Given the description of an element on the screen output the (x, y) to click on. 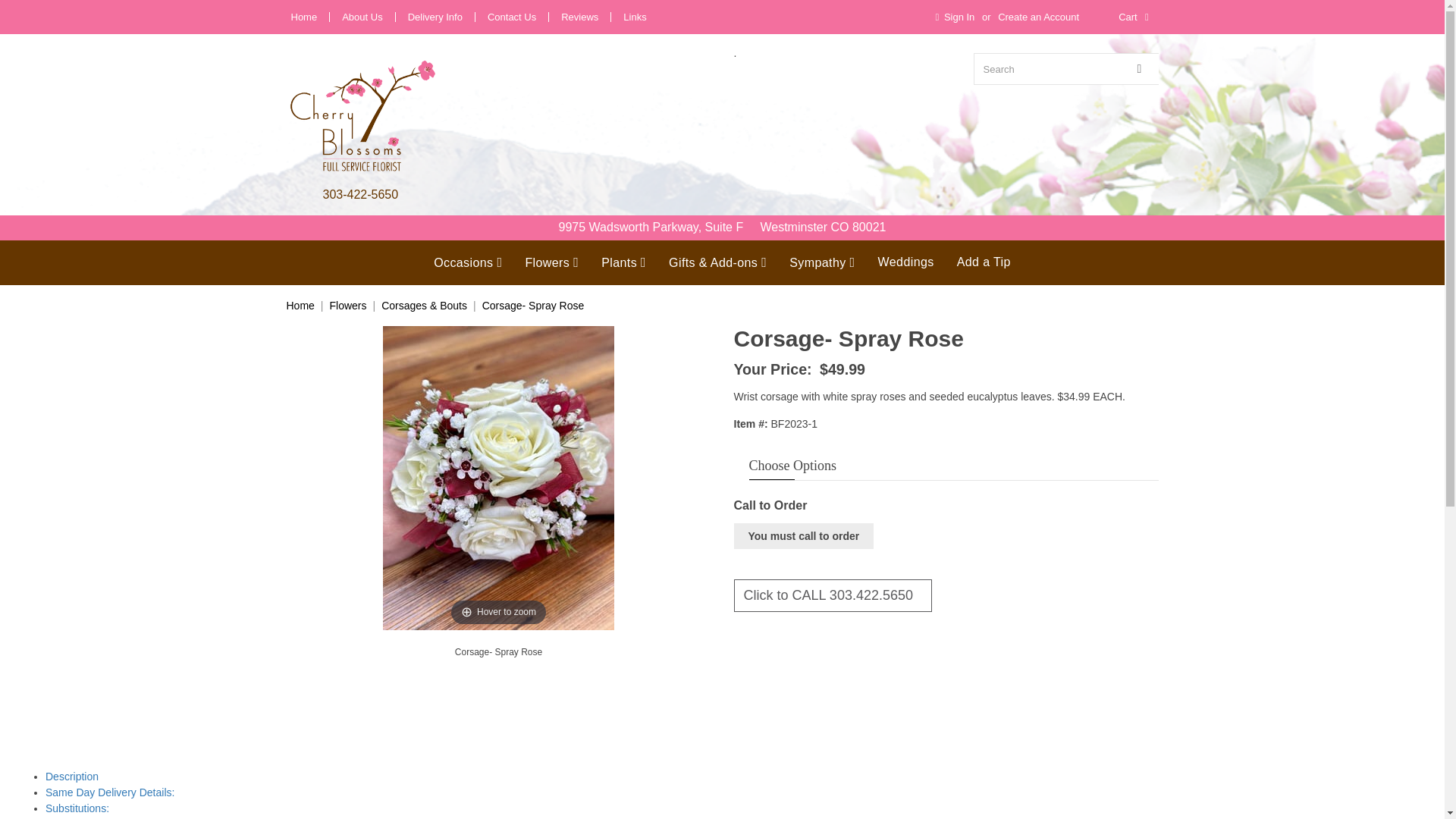
Delivery Info (435, 16)
Home (303, 16)
Occasions (467, 262)
Plants (623, 262)
Create an Account (1037, 16)
Contact Us (511, 16)
About Us (362, 16)
Cart (1135, 16)
You must call to order (804, 535)
Sympathy (821, 262)
Flowers (551, 262)
Reviews (579, 16)
Links (634, 16)
Sign In (952, 16)
Corsage- Spray Rose  (498, 652)
